Given the description of an element on the screen output the (x, y) to click on. 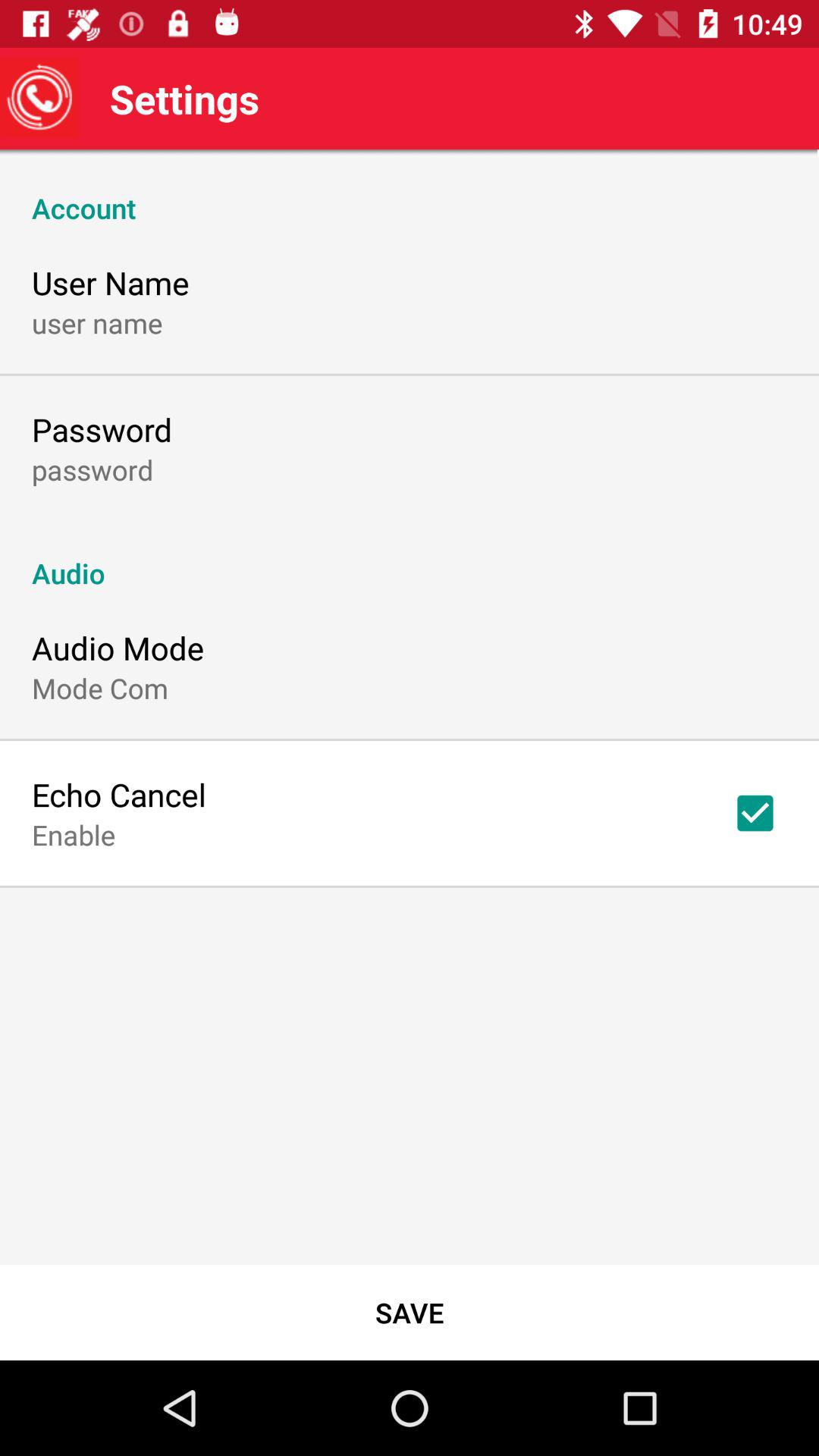
tap the icon above save icon (755, 813)
